Given the description of an element on the screen output the (x, y) to click on. 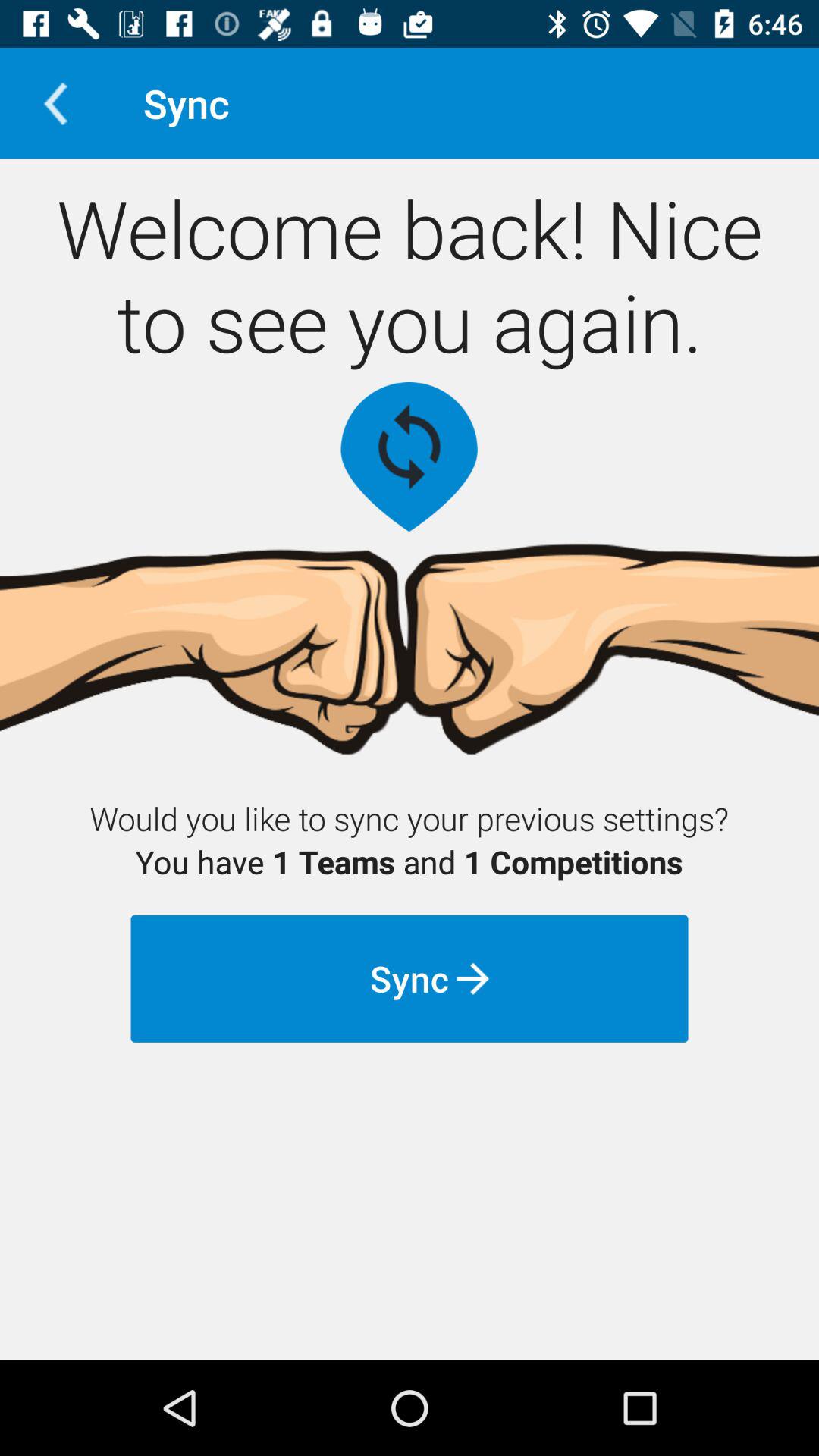
turn off icon to the left of sync (55, 103)
